Given the description of an element on the screen output the (x, y) to click on. 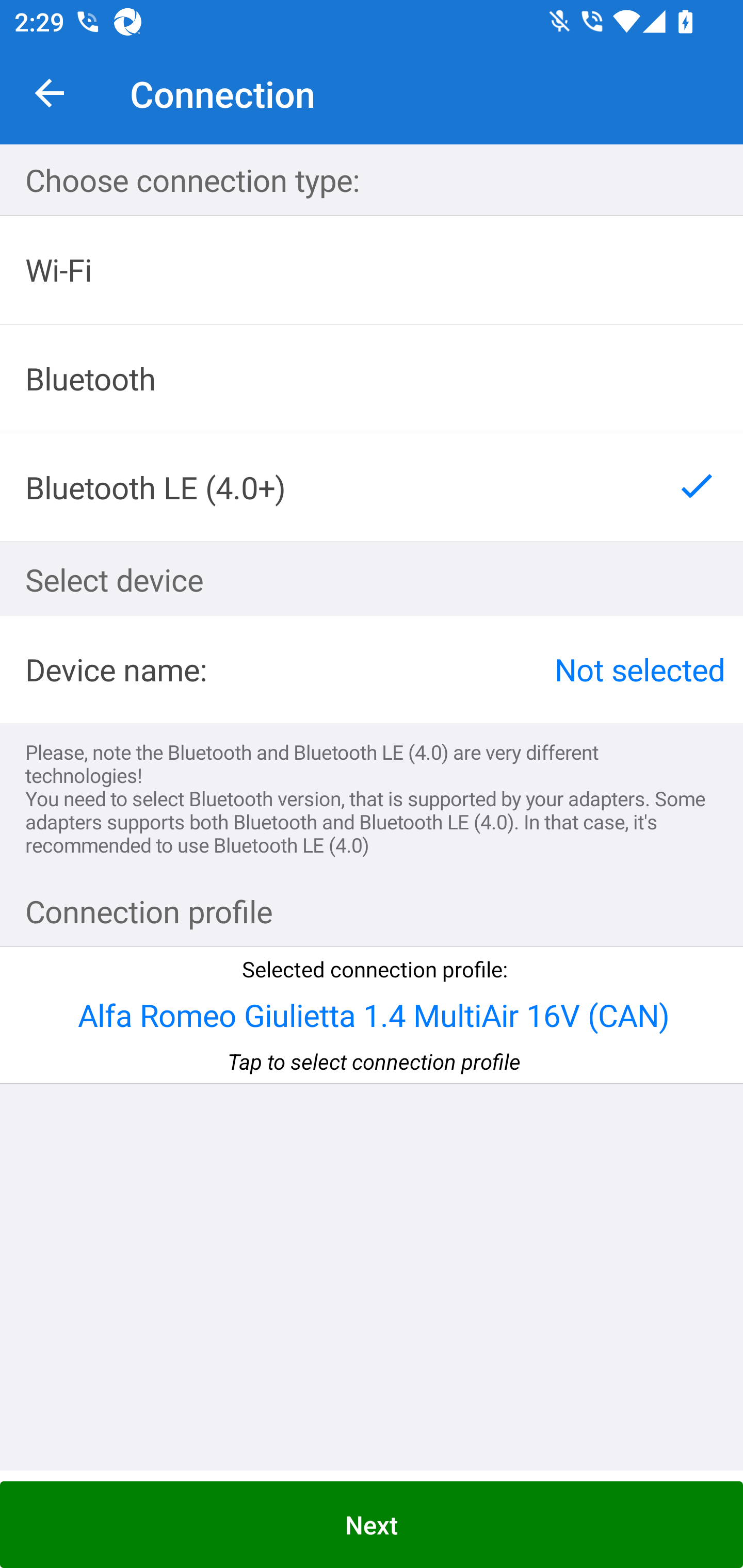
Wi-Fi (371, 270)
Bluetooth (371, 378)
Bluetooth LE (4.0+) (371, 486)
Device name: Not selected (371, 669)
Next (371, 1524)
